Given the description of an element on the screen output the (x, y) to click on. 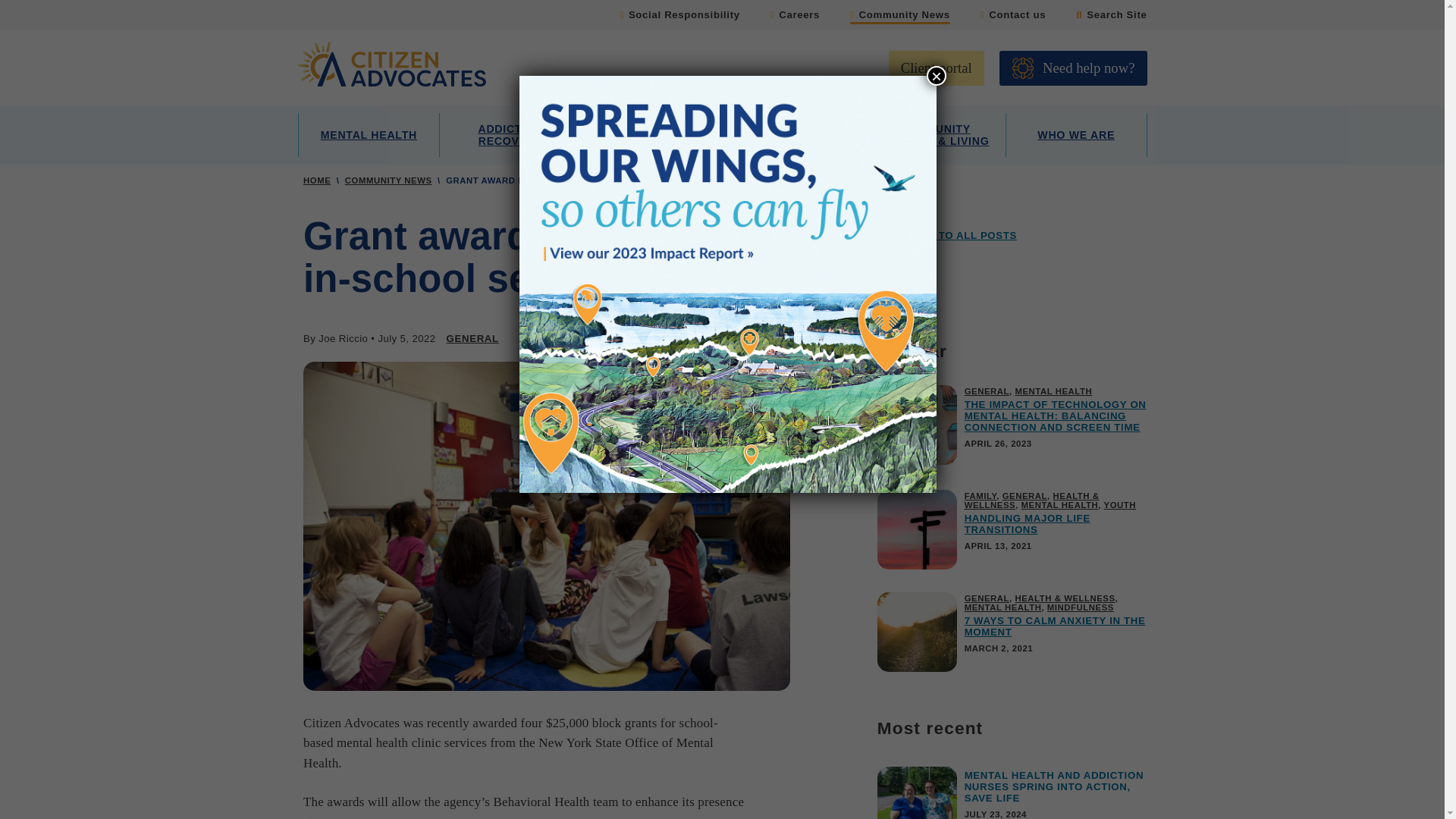
Careers (794, 16)
ADDICTION RECOVERY (509, 135)
Community News (900, 16)
MENTAL HEALTH (368, 135)
Search Site (1111, 16)
Social Responsibility (679, 16)
COMMUNITY NEWS (388, 180)
Contact us (1012, 16)
Email (772, 339)
HOME (316, 180)
GENERAL (472, 337)
Twitter (702, 339)
WHO WE ARE (1076, 135)
Client portal (936, 67)
Facebook (667, 339)
